Given the description of an element on the screen output the (x, y) to click on. 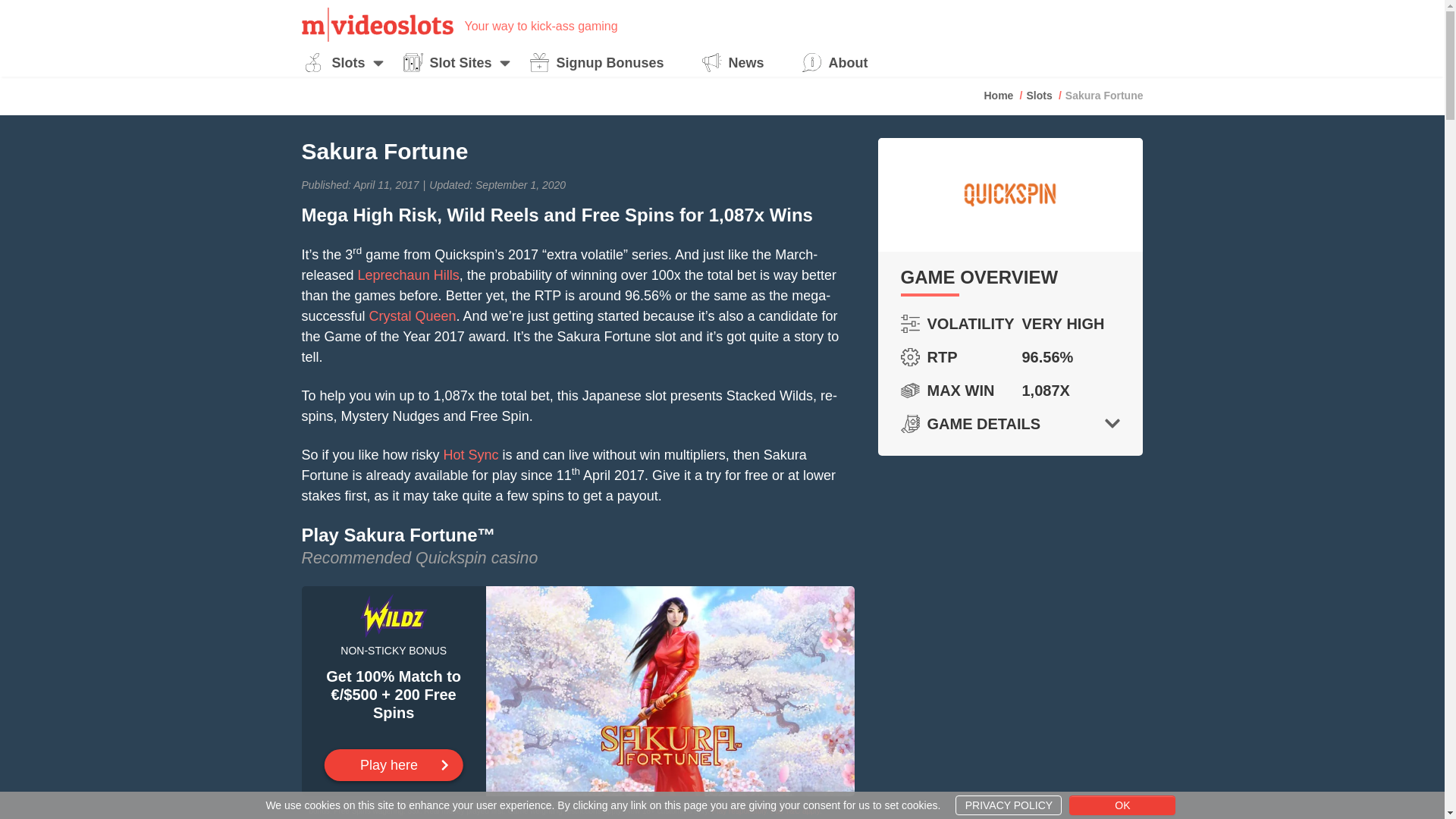
Slots (339, 63)
Signup Bonuses (600, 63)
Home (998, 95)
Crystal Queen (413, 315)
Wildz (393, 765)
About (838, 63)
Slots (1038, 95)
Mvideoslots.com (376, 24)
News (737, 63)
Slot Sites (450, 63)
Leprechaun Hills (409, 274)
Slots (1038, 95)
